Given the description of an element on the screen output the (x, y) to click on. 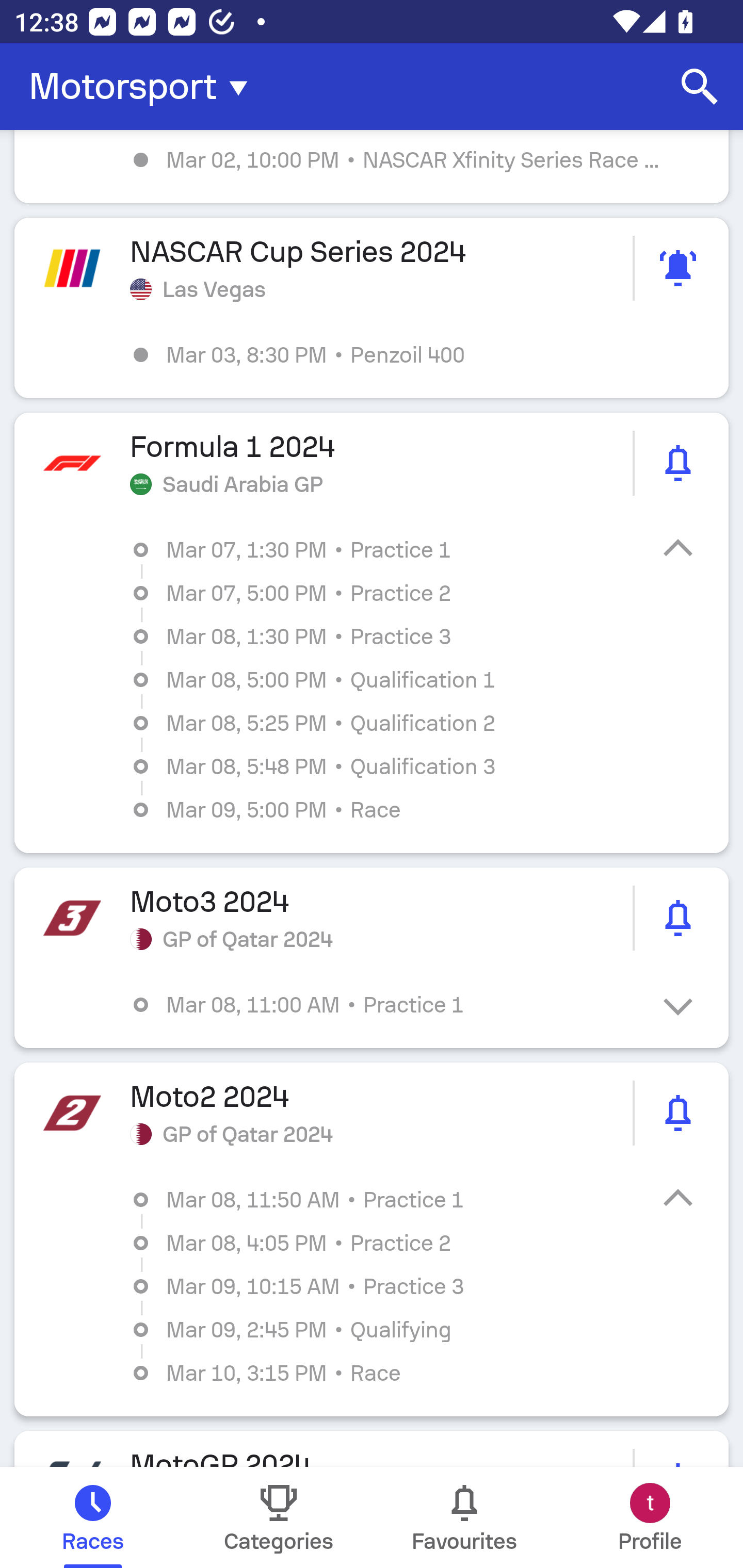
Motorsport (144, 86)
Search (699, 86)
Mar 08, 11:00 AM • Practice 1 (385, 1004)
Categories (278, 1517)
Favourites (464, 1517)
Profile (650, 1517)
